Given the description of an element on the screen output the (x, y) to click on. 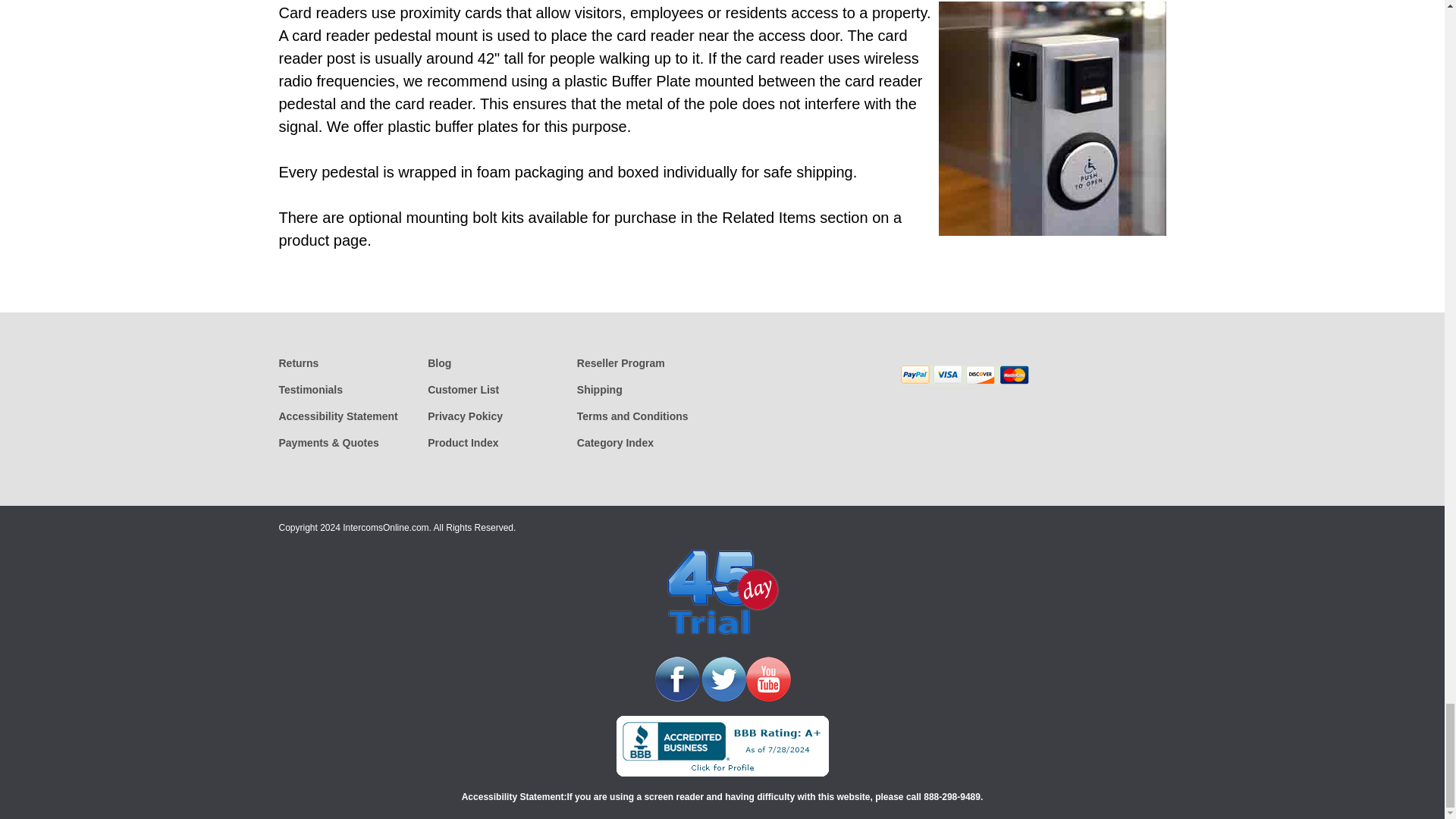
YouTube Channel (768, 678)
Click for accessibility statement (512, 796)
Facebook Page (676, 678)
45 day trial period (721, 593)
Twitter Page (722, 678)
